Given the description of an element on the screen output the (x, y) to click on. 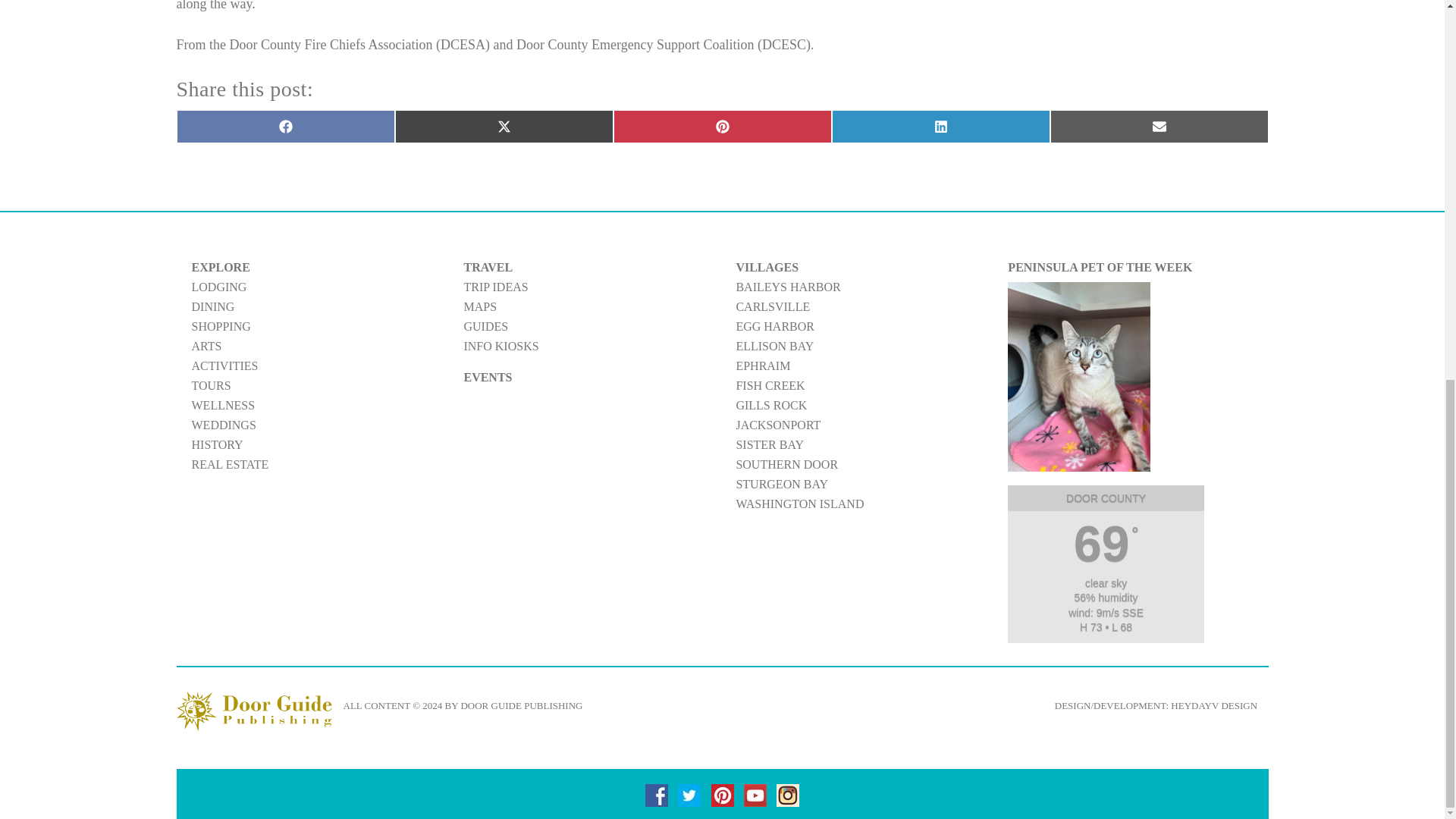
TOURS (210, 385)
WELLNESS (222, 404)
LODGING (218, 286)
ACTIVITIES (223, 365)
ARTS (205, 345)
SHOPPING (220, 326)
Share on Facebook (285, 125)
Share on Email (1158, 125)
Share on Pinterest (721, 125)
EXPLORE (219, 267)
DINING (212, 306)
Share on LinkedIn (940, 125)
